Given the description of an element on the screen output the (x, y) to click on. 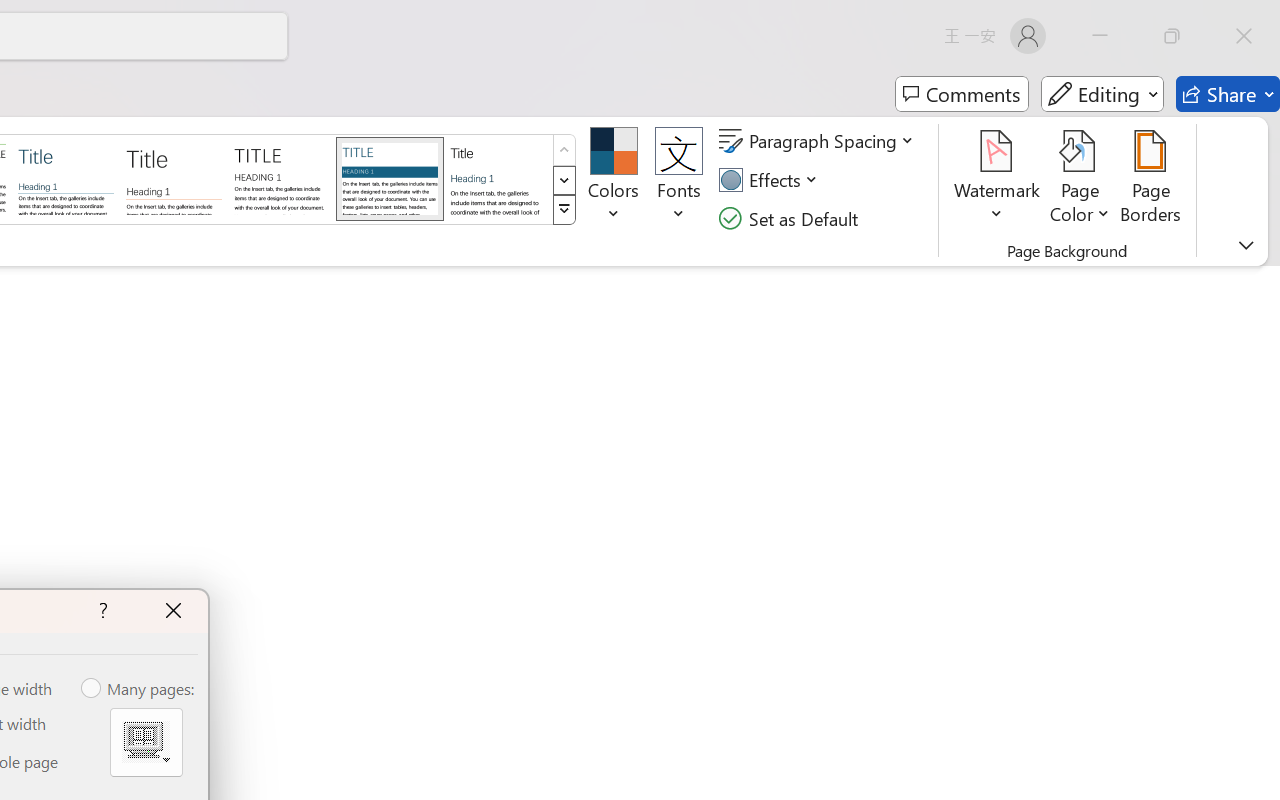
Page Color (1080, 179)
Minimalist (281, 178)
Set as Default (791, 218)
Editing (1101, 94)
Lines (Stylish) (173, 178)
Minimize (1099, 36)
Class: NetUIImage (564, 210)
Word (497, 178)
Close (1244, 36)
Many pages: (139, 689)
Restore Down (1172, 36)
Paragraph Spacing (819, 141)
Share (1228, 94)
Shaded (389, 178)
